Given the description of an element on the screen output the (x, y) to click on. 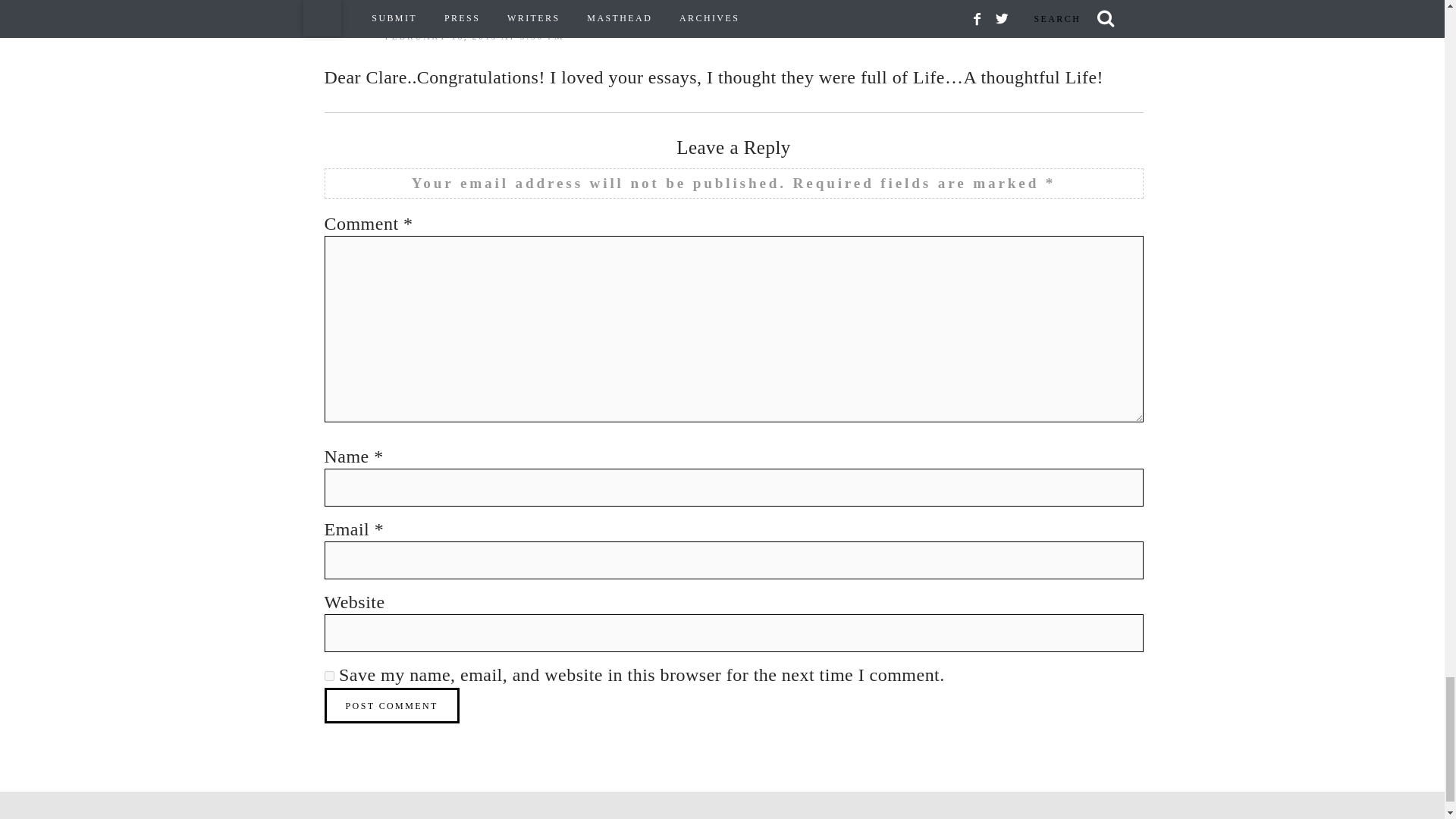
yes (329, 675)
Post Comment (392, 705)
